Given the description of an element on the screen output the (x, y) to click on. 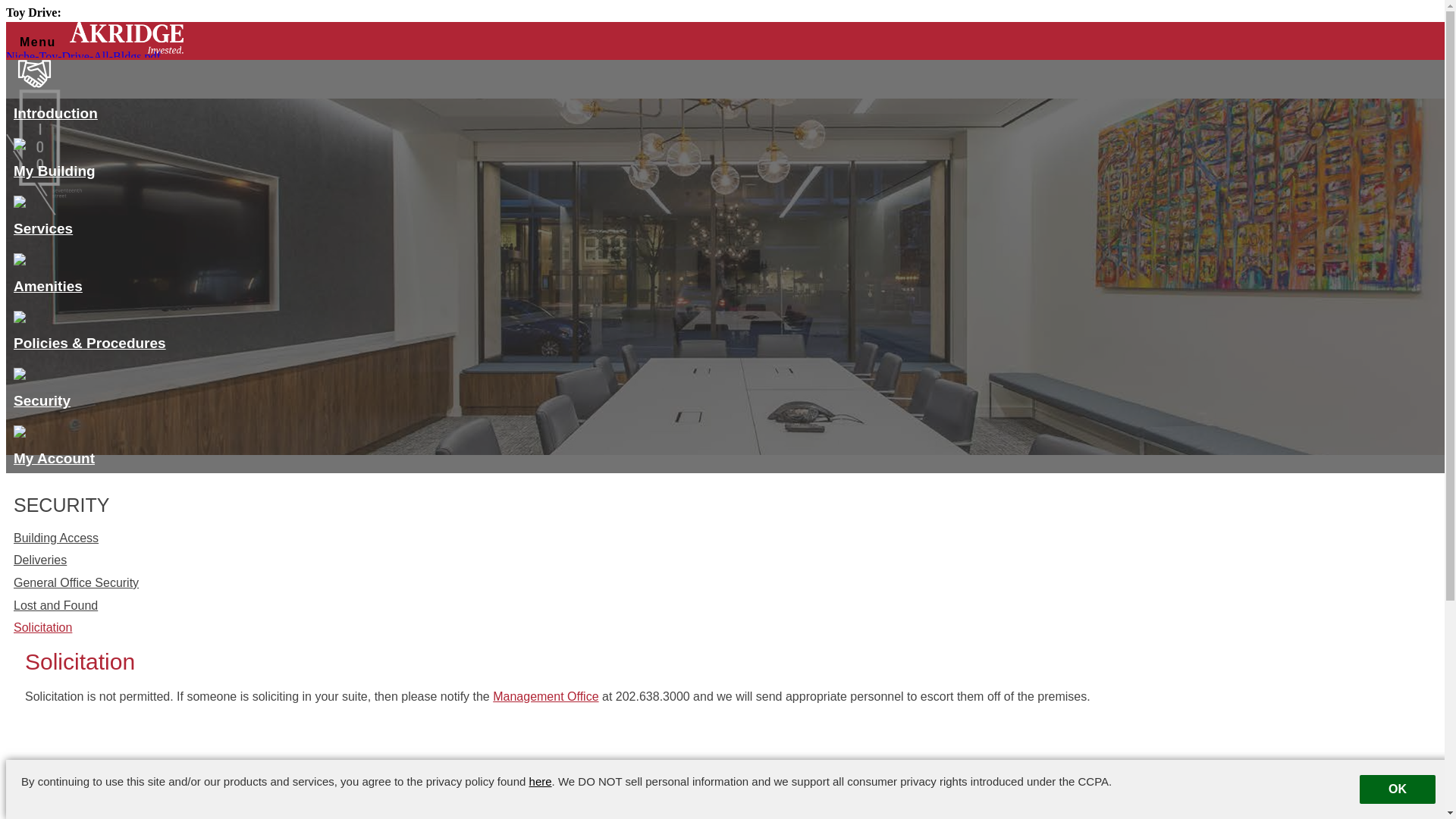
Lost and Found Element type: text (728, 605)
Deliveries Element type: text (728, 560)
Introduction Element type: text (114, 89)
My Building Element type: text (114, 145)
Services Element type: text (114, 203)
Management Office Element type: text (545, 696)
Policies & Procedures Element type: text (114, 318)
202.638.3000 Element type: text (316, 799)
Security Element type: text (114, 375)
Building Alerts Element type: hover (722, 28)
General Office Security Element type: text (728, 582)
My Account Element type: text (114, 433)
Menu Element type: text (37, 43)
here Element type: text (540, 781)
akridge.com Element type: text (1400, 798)
Solicitation Element type: text (728, 627)
Building Access Element type: text (728, 538)
Amenities Element type: text (114, 261)
